Given the description of an element on the screen output the (x, y) to click on. 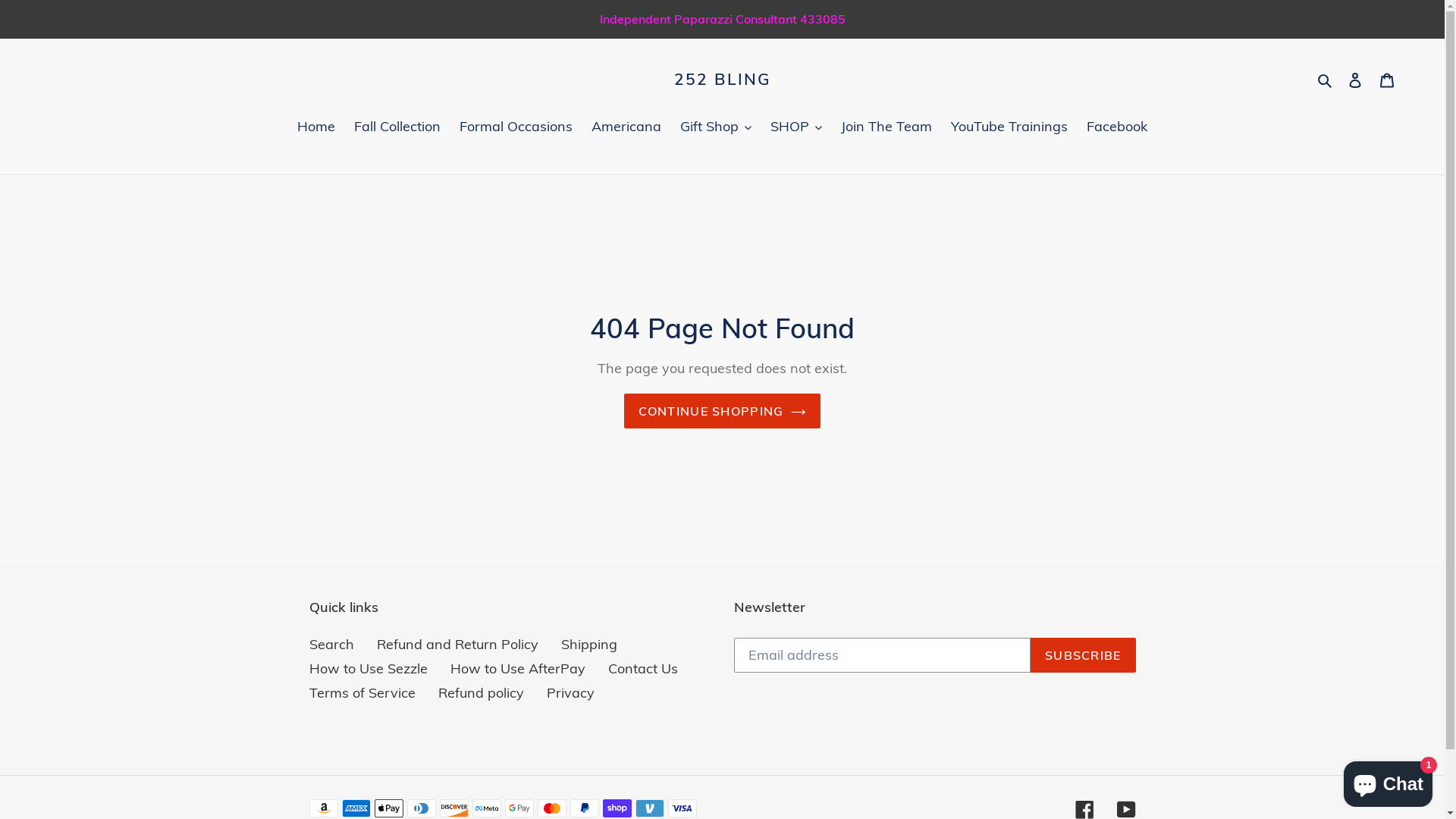
Facebook Element type: text (1116, 127)
How to Use AfterPay Element type: text (517, 668)
Shopify online store chat Element type: hover (1388, 780)
Americana Element type: text (625, 127)
Search Element type: text (331, 643)
252 BLING Element type: text (722, 78)
Refund policy Element type: text (481, 692)
Privacy Element type: text (569, 692)
Shipping Element type: text (589, 643)
SHOP Element type: text (795, 127)
Gift Shop Element type: text (715, 127)
Terms of Service Element type: text (362, 692)
Fall Collection Element type: text (397, 127)
Contact Us Element type: text (642, 668)
CONTINUE SHOPPING Element type: text (722, 410)
Home Element type: text (315, 127)
Join The Team Element type: text (886, 127)
Log in Element type: text (1355, 79)
SUBSCRIBE Element type: text (1082, 654)
How to Use Sezzle Element type: text (368, 668)
Refund and Return Policy Element type: text (456, 643)
Search Element type: text (1325, 79)
YouTube Trainings Element type: text (1009, 127)
Formal Occasions Element type: text (515, 127)
Cart Element type: text (1386, 79)
Independent Paparazzi Consultant 433085 Element type: text (722, 18)
